Given the description of an element on the screen output the (x, y) to click on. 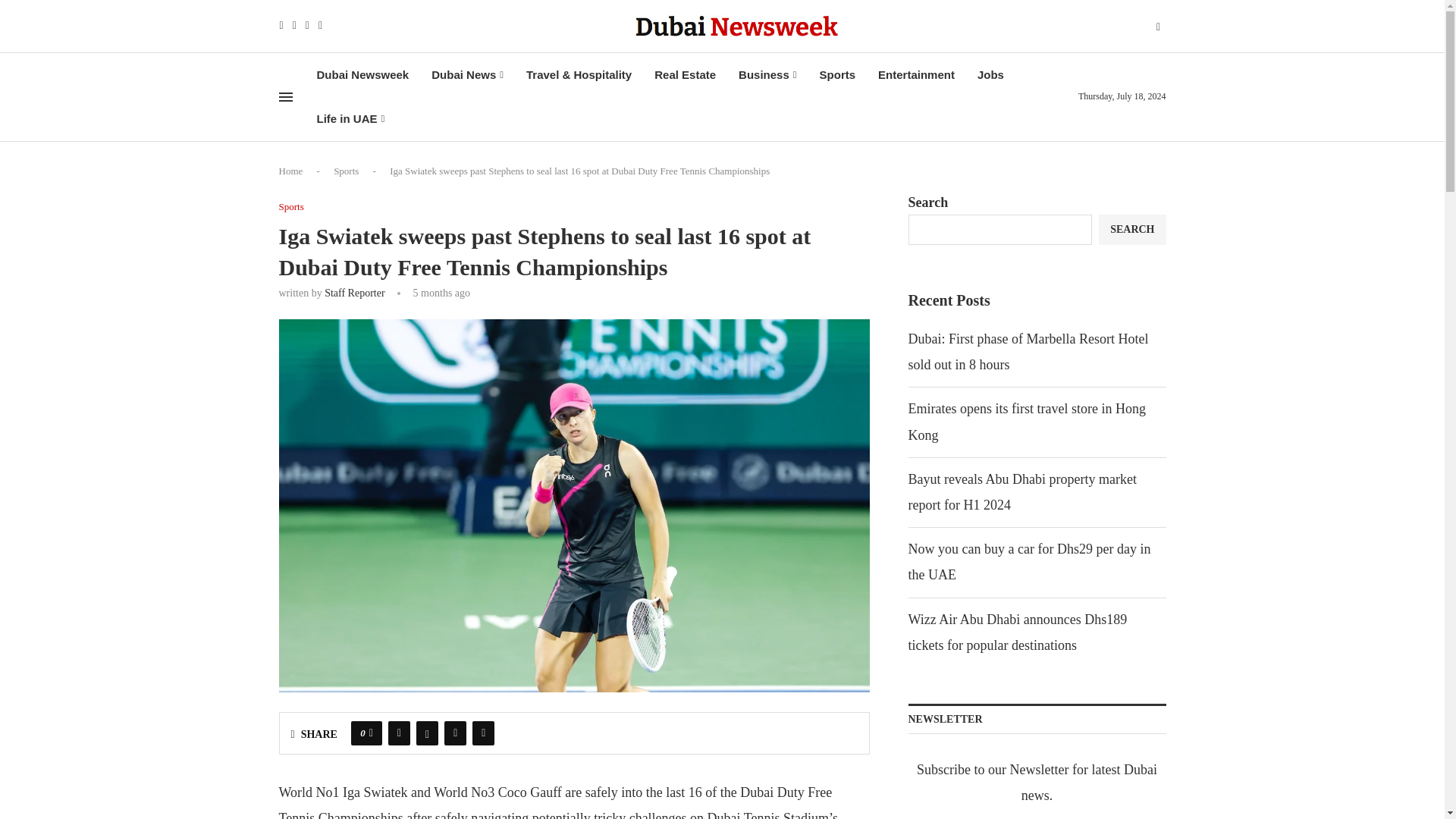
Dubai Newsweek (363, 75)
Dubai News (466, 75)
